Given the description of an element on the screen output the (x, y) to click on. 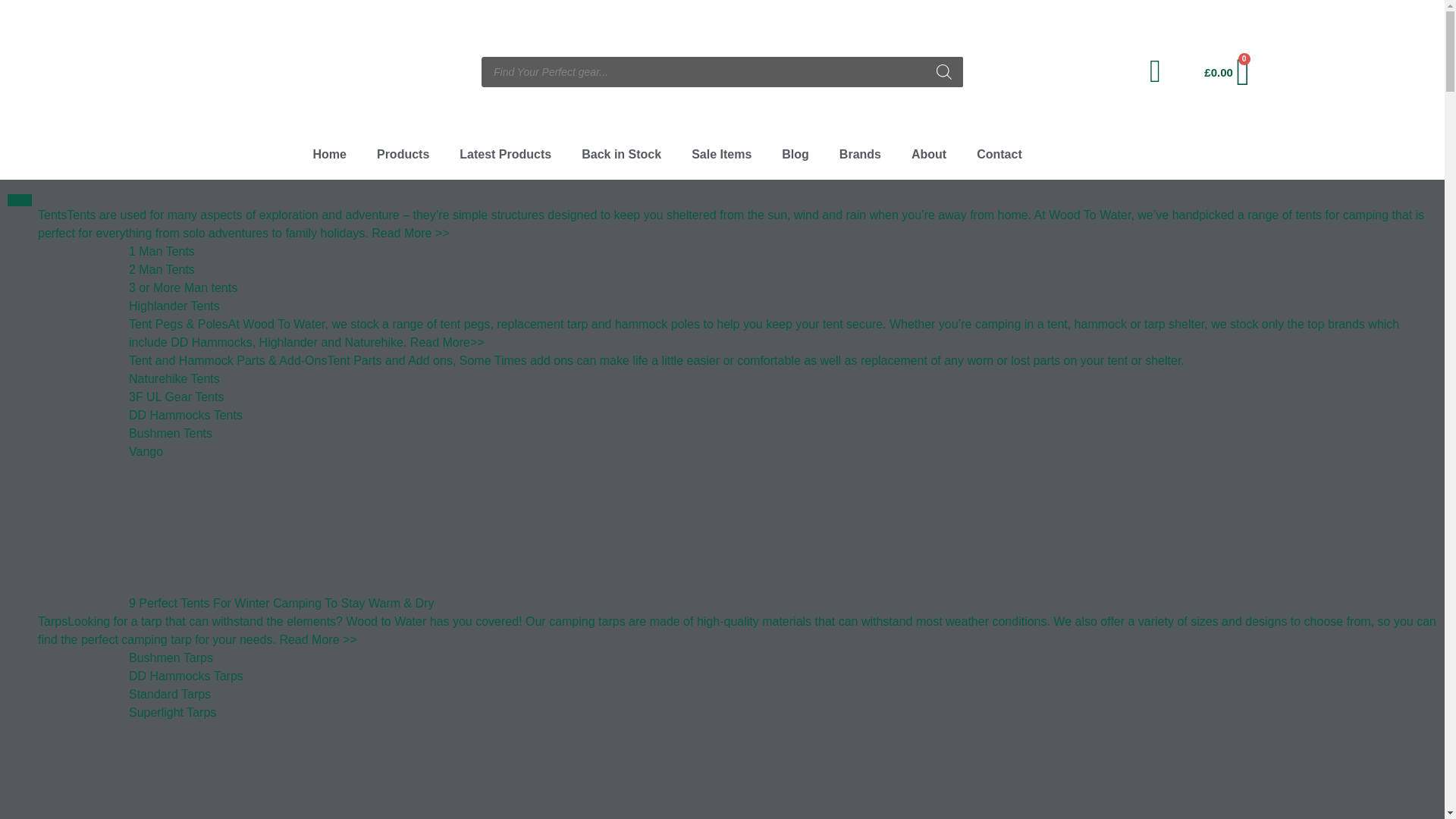
Products (402, 154)
Home (329, 154)
